Given the description of an element on the screen output the (x, y) to click on. 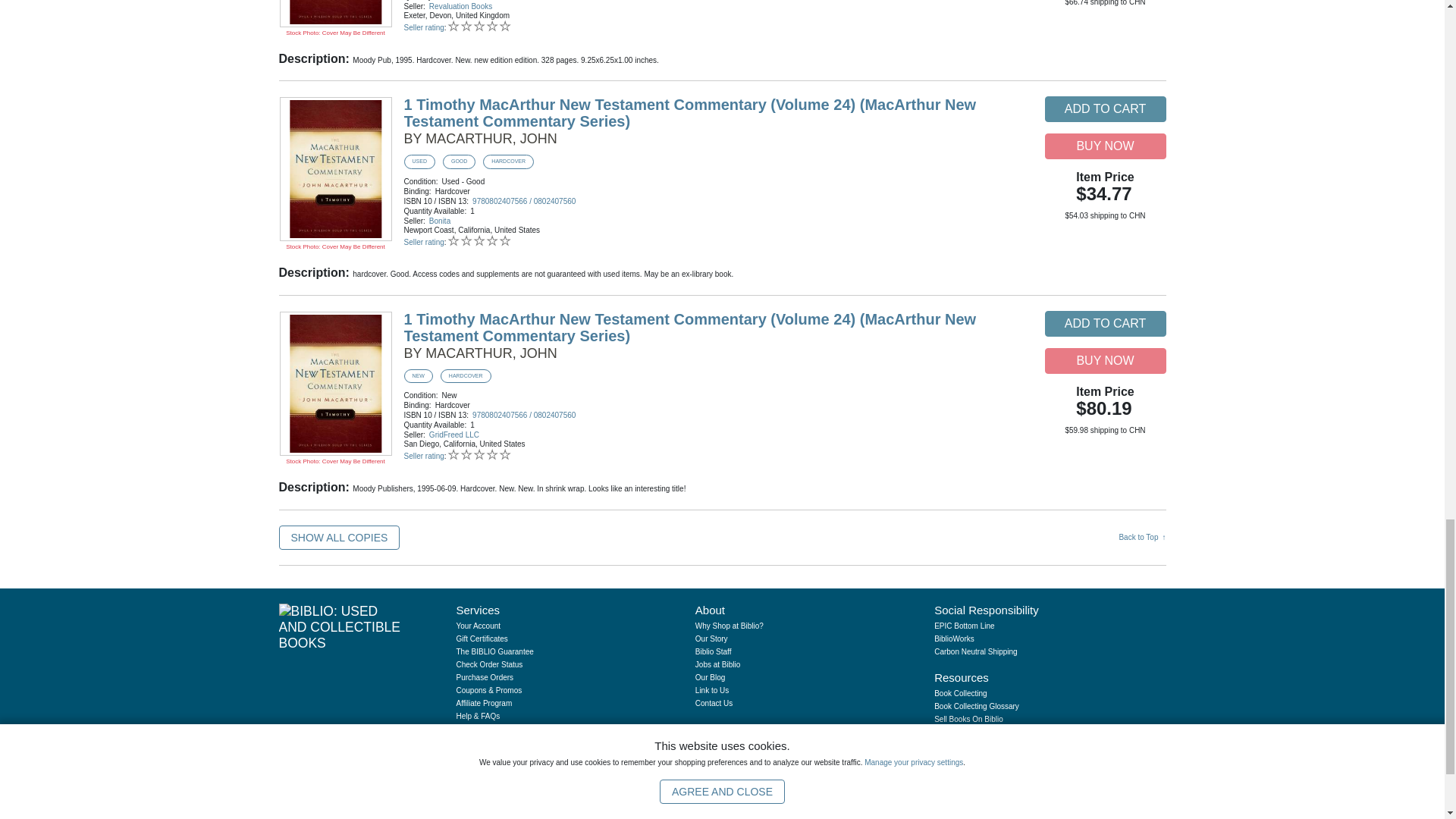
Visit our Instagram page (957, 758)
Visit our Twitter page (981, 758)
Click for the Better Business Bureau review of Biblio, Inc. (1118, 816)
